Given the description of an element on the screen output the (x, y) to click on. 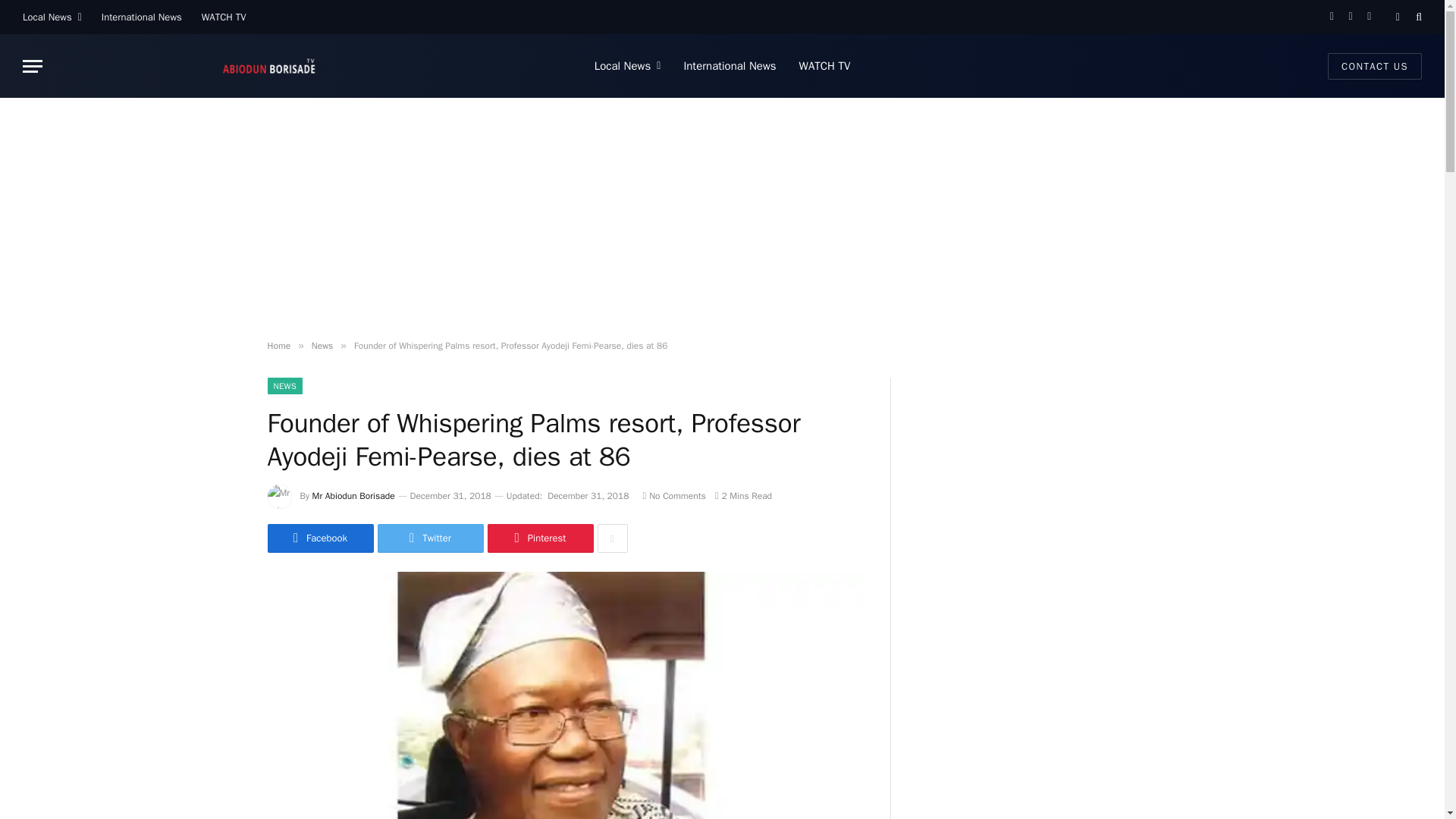
International News (141, 17)
Local News (52, 17)
Share on Facebook (319, 538)
WATCH TV (824, 65)
International News (729, 65)
Switch to Dark Design - easier on eyes. (1397, 17)
News (322, 345)
Abiodun Borisade TV (268, 65)
Mr Abiodun Borisade (353, 495)
Home (277, 345)
CONTACT US (1374, 66)
Posts by Mr Abiodun Borisade (353, 495)
WATCH TV (224, 17)
NEWS (284, 385)
